Given the description of an element on the screen output the (x, y) to click on. 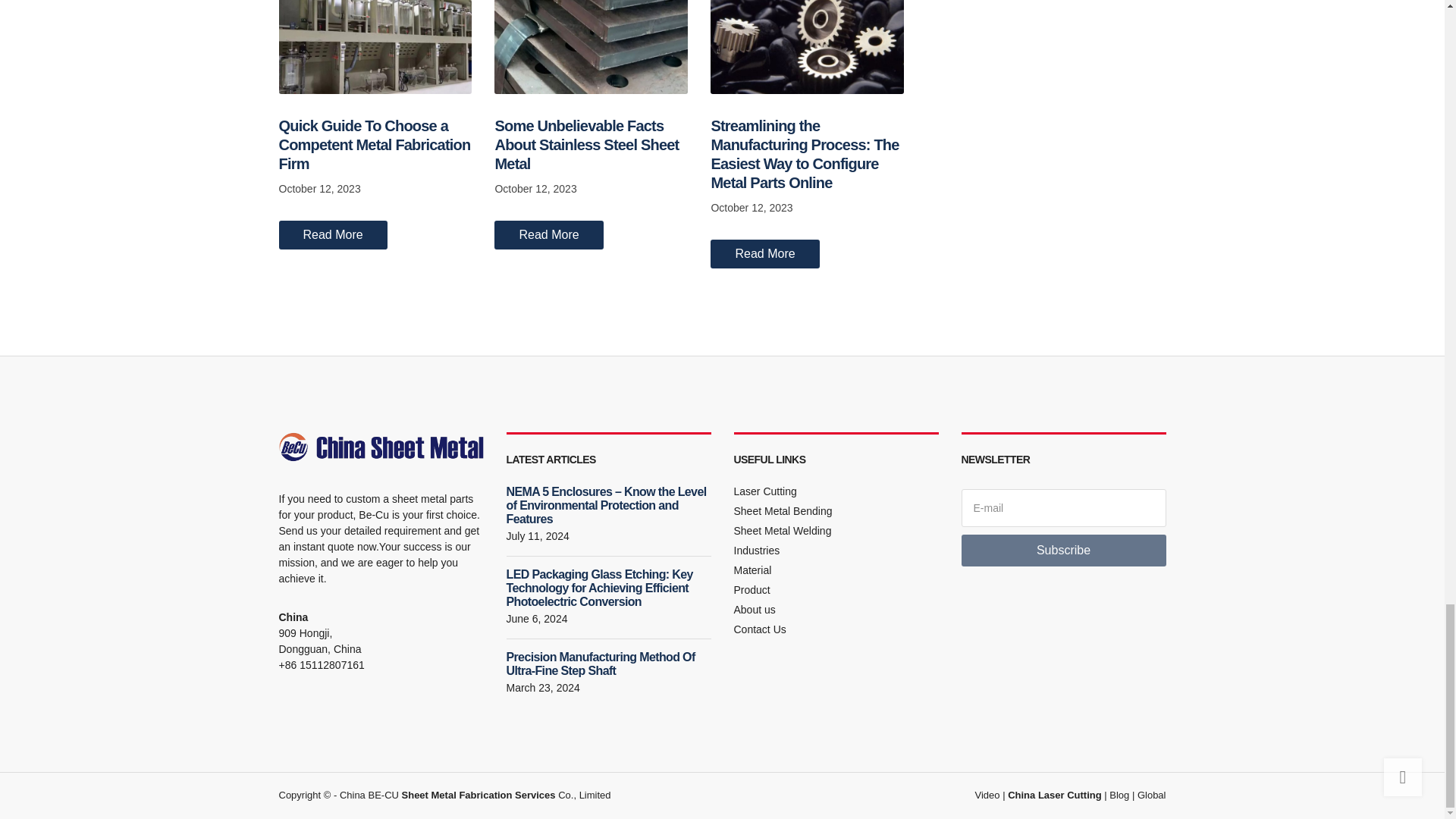
Read More (333, 234)
Quick Guide To Choose a Competent Metal Fabrication Firm (374, 144)
Read More (764, 253)
Read More (548, 234)
Some Unbelievable Facts About Stainless Steel Sheet Metal (586, 144)
